Given the description of an element on the screen output the (x, y) to click on. 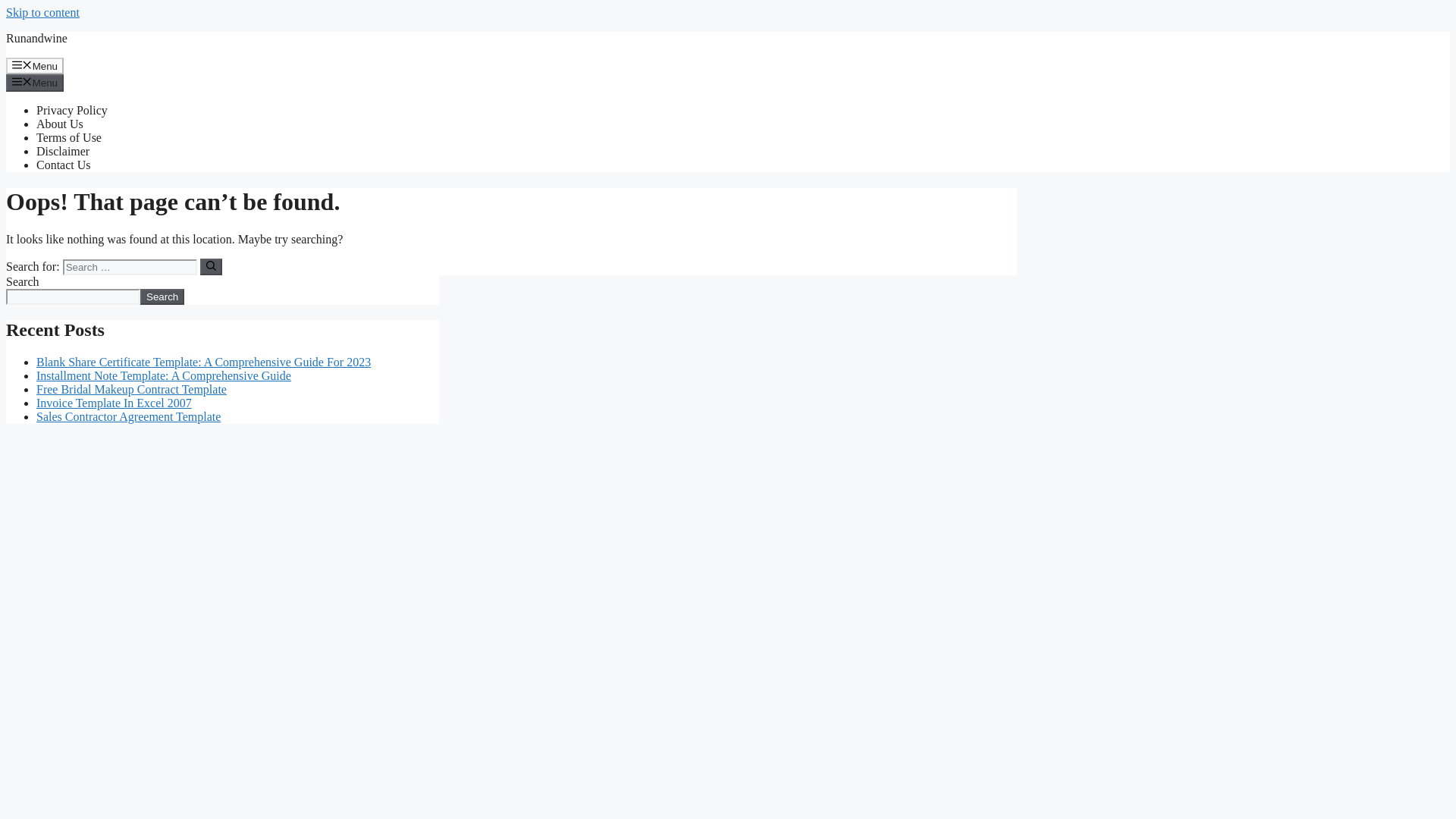
Free Bridal Makeup Contract Template (131, 389)
Contact Us (63, 164)
Skip to content (42, 11)
Installment Note Template: A Comprehensive Guide (163, 375)
Search (161, 296)
Search for: (129, 267)
Runandwine (35, 38)
Invoice Template In Excel 2007 (114, 402)
Terms of Use (68, 137)
Privacy Policy (71, 110)
Menu (34, 82)
Skip to content (42, 11)
About Us (59, 123)
Disclaimer (62, 151)
